Given the description of an element on the screen output the (x, y) to click on. 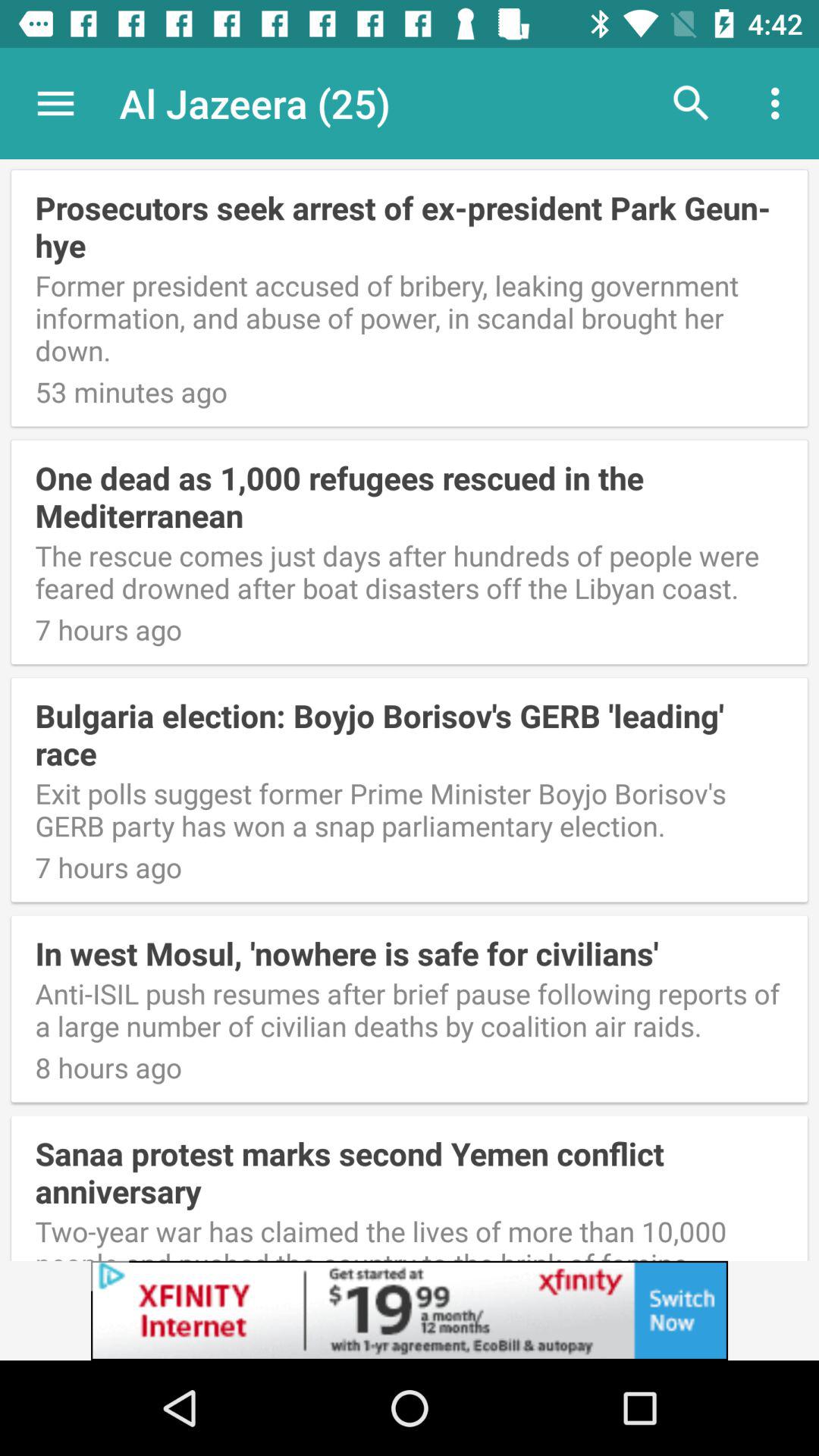
advertisement (409, 1310)
